Given the description of an element on the screen output the (x, y) to click on. 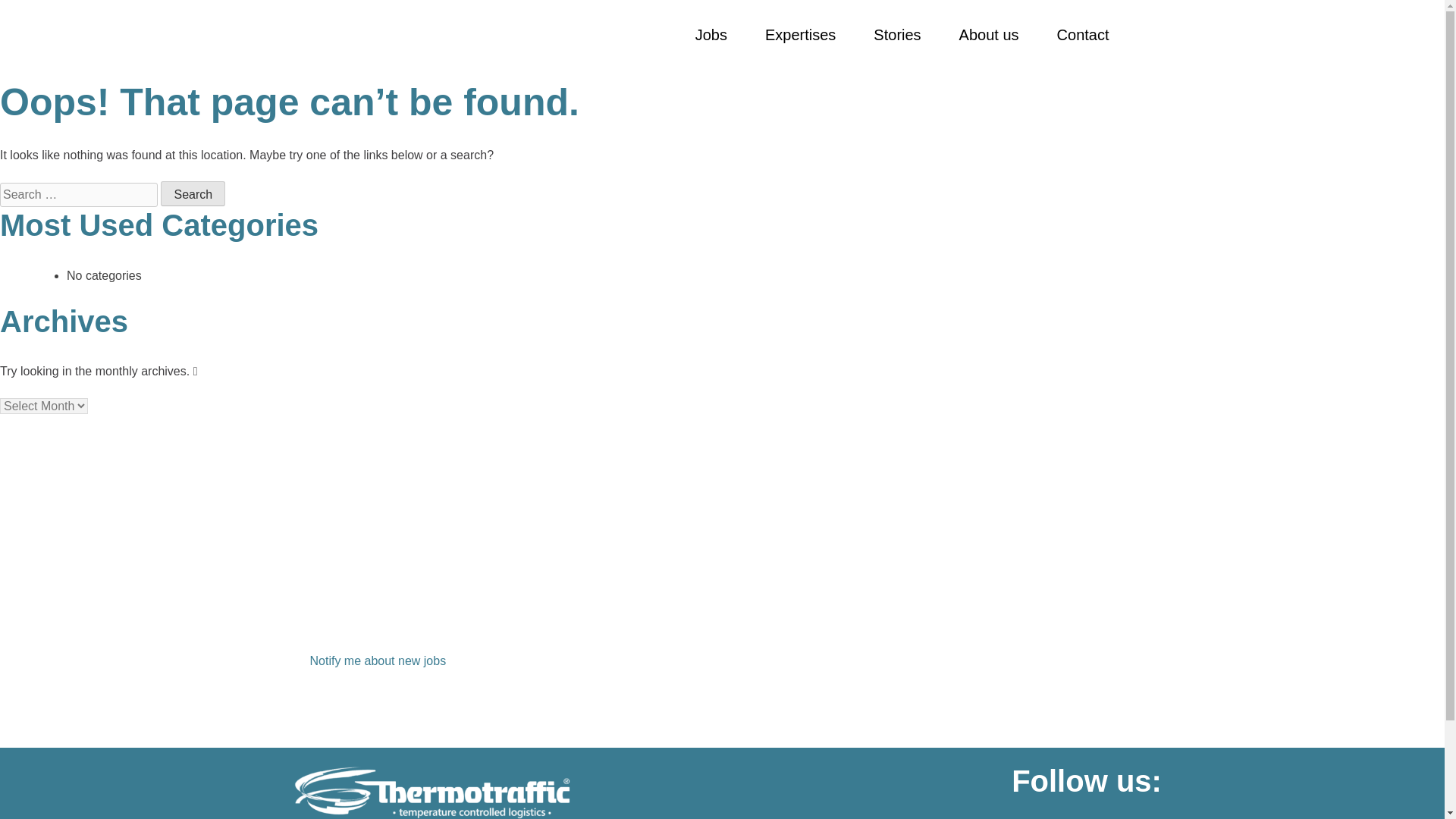
Stories (896, 34)
Expertises (800, 34)
Search (192, 193)
Contact (1083, 34)
Search (192, 193)
About us (989, 34)
Notify me about new jobs (378, 661)
Jobs (710, 34)
Search (192, 193)
